Given the description of an element on the screen output the (x, y) to click on. 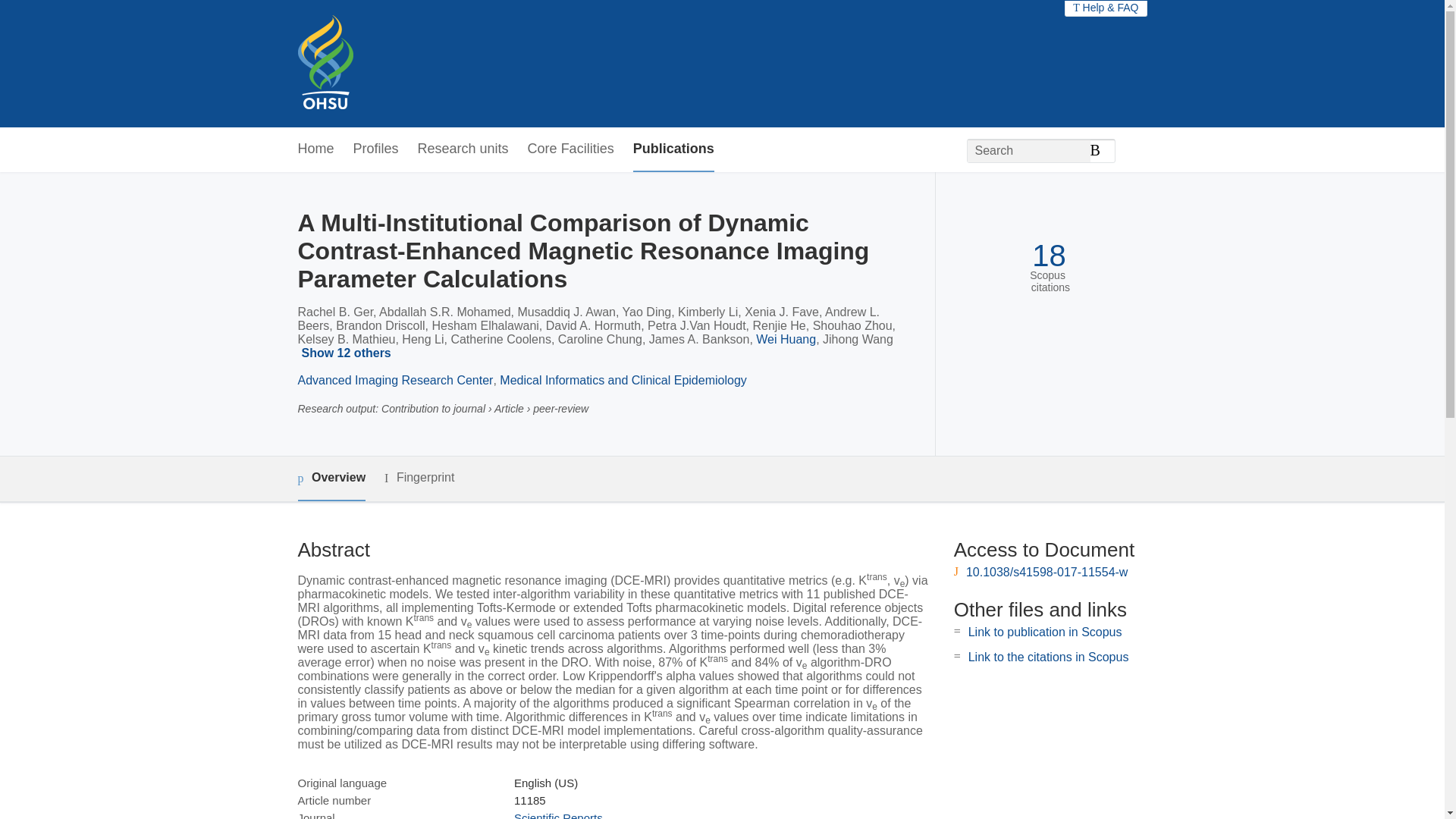
Medical Informatics and Clinical Epidemiology (622, 379)
Link to publication in Scopus (1045, 631)
Fingerprint (419, 477)
Wei Huang (785, 338)
Advanced Imaging Research Center (395, 379)
Publications (673, 149)
Show 12 others (347, 353)
Profiles (375, 149)
18 (1048, 255)
